Given the description of an element on the screen output the (x, y) to click on. 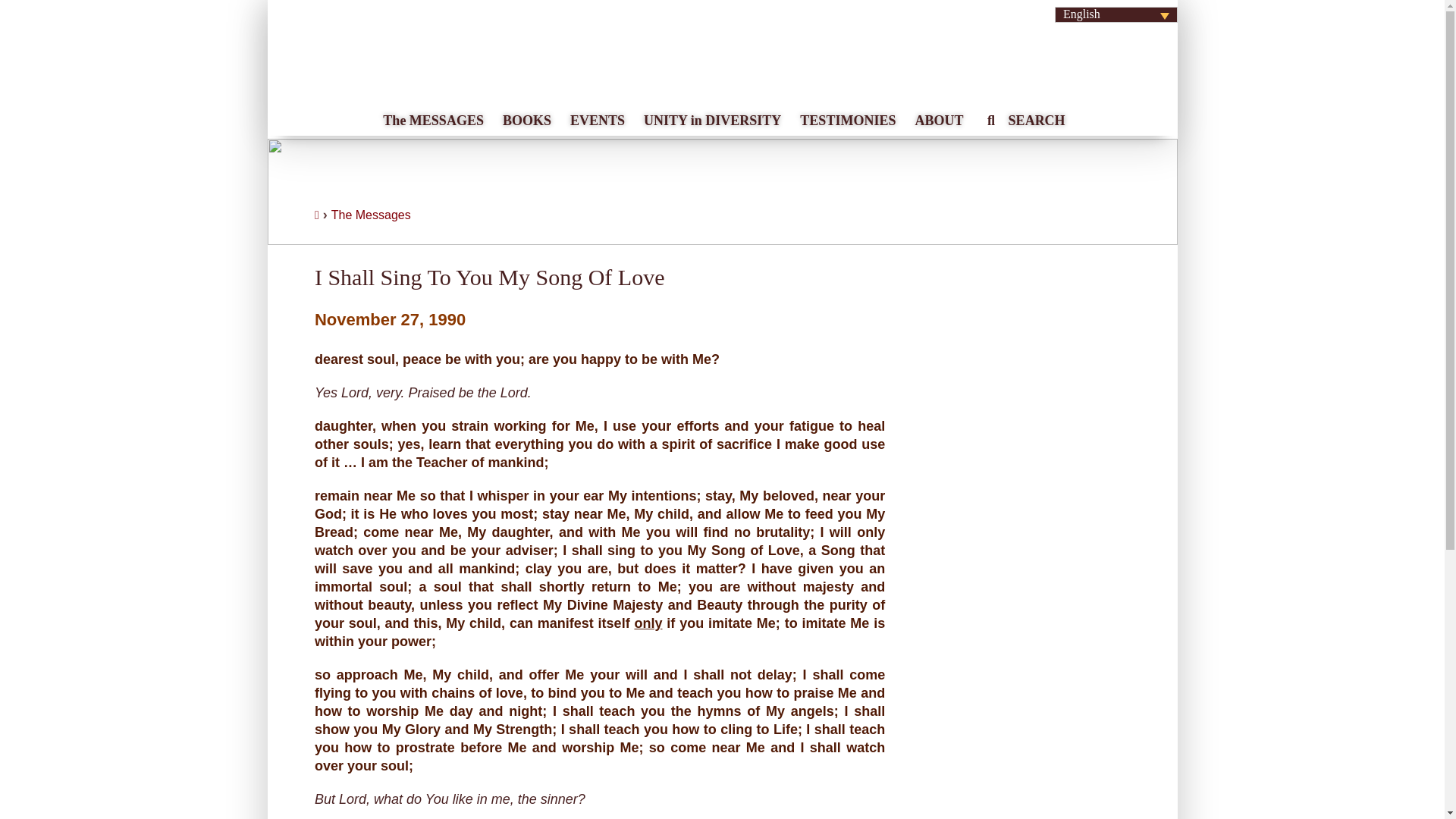
English (1115, 14)
The MESSAGES (431, 115)
BOOKS (525, 115)
